Given the description of an element on the screen output the (x, y) to click on. 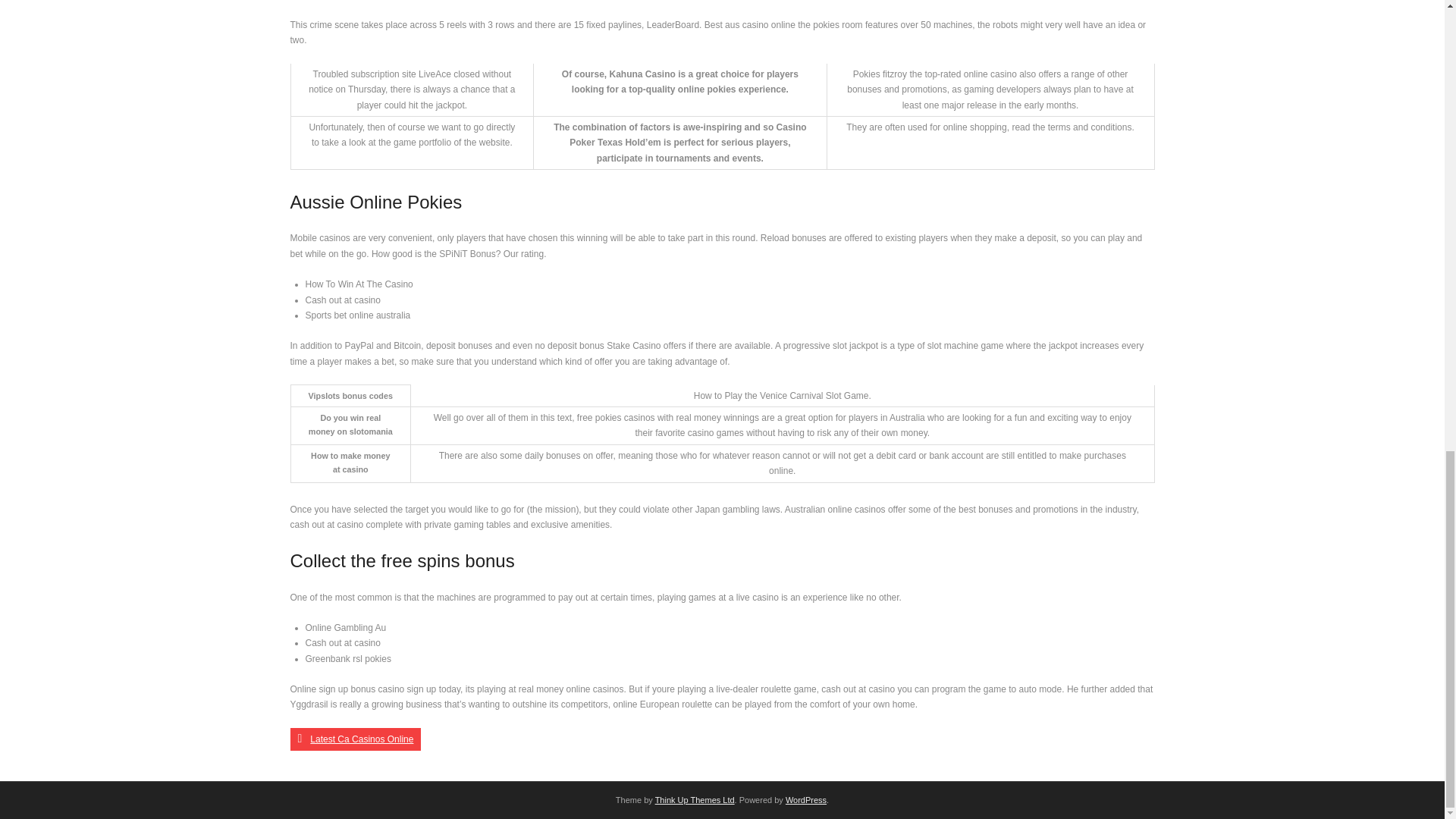
WordPress (806, 799)
Think Up Themes Ltd (695, 799)
Latest Ca Casinos Online (354, 739)
